Given the description of an element on the screen output the (x, y) to click on. 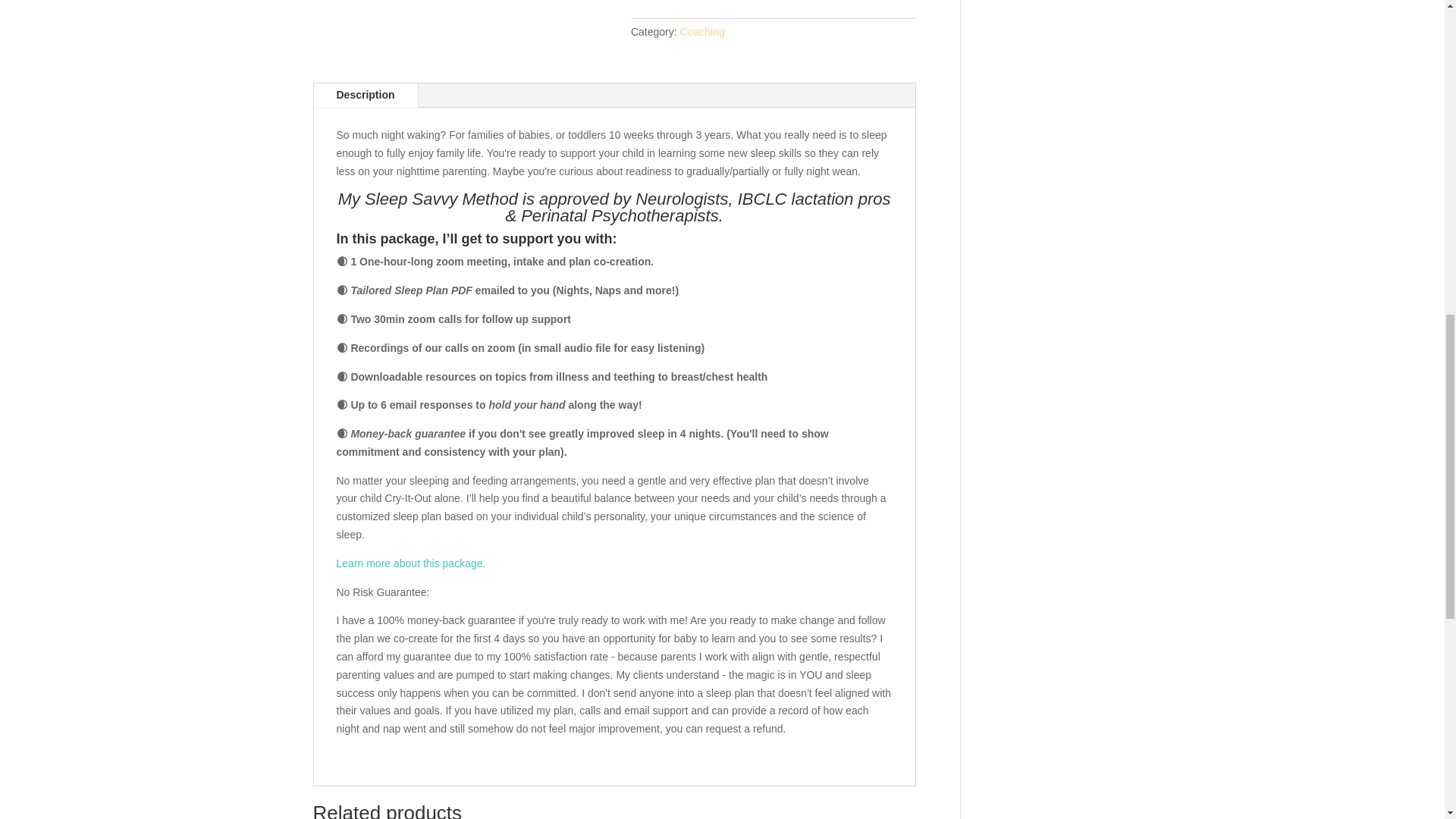
Coaching (702, 31)
Description (365, 95)
Learn more about this package. (411, 563)
